Given the description of an element on the screen output the (x, y) to click on. 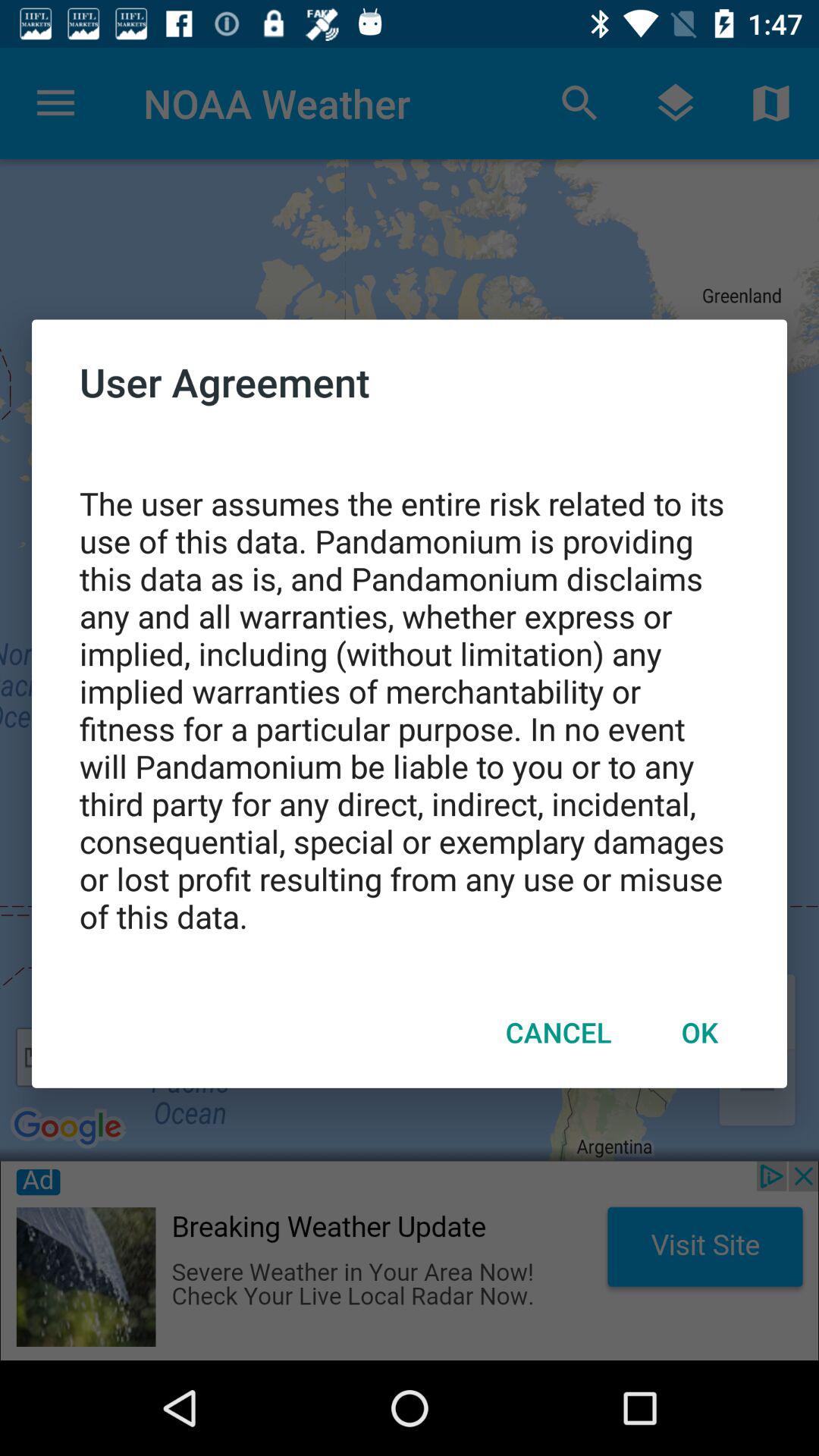
turn on icon to the left of ok (558, 1032)
